Given the description of an element on the screen output the (x, y) to click on. 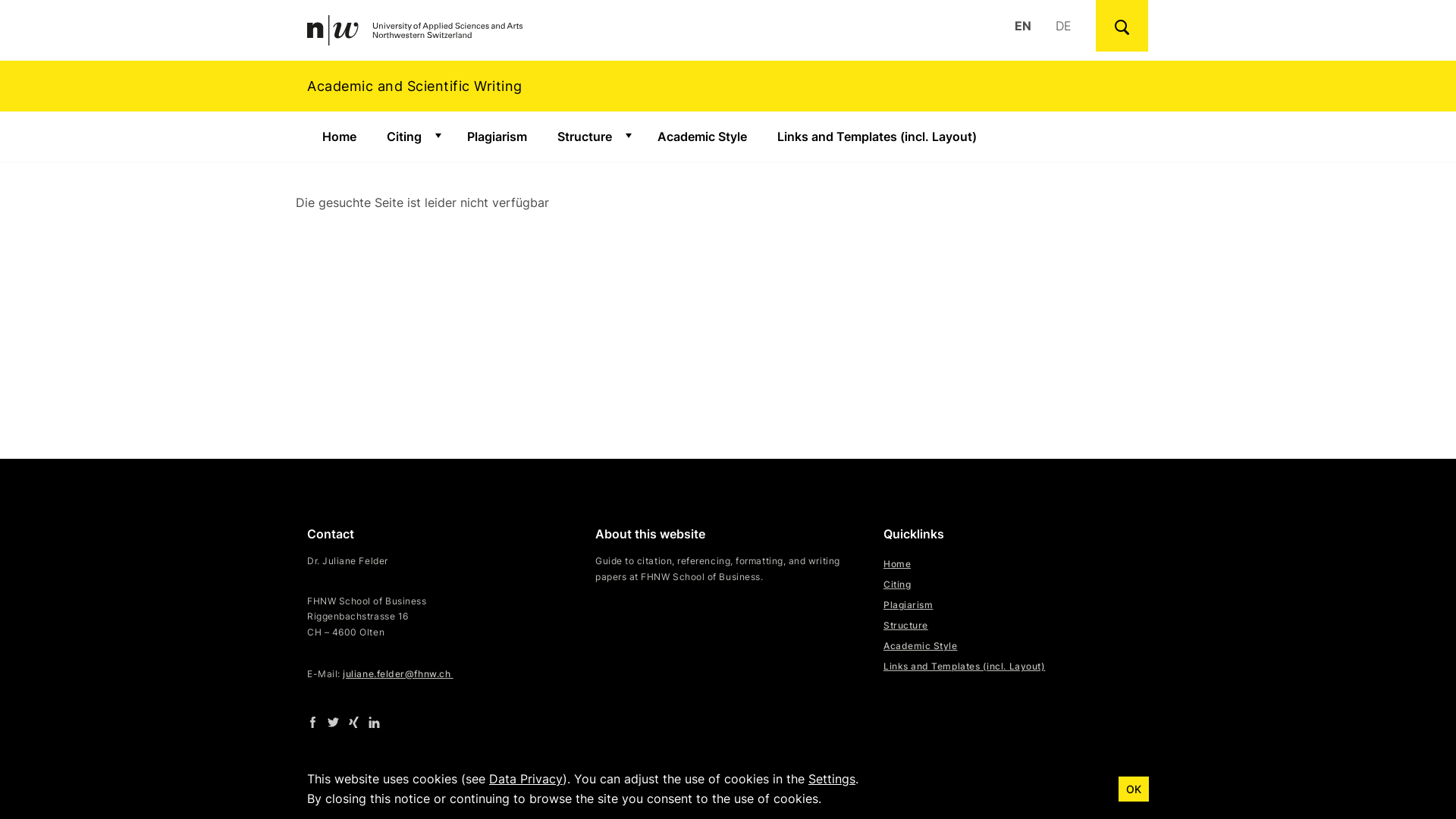
Home Element type: text (339, 136)
Show submenu for "Structure" Element type: text (626, 136)
Data Privacy Element type: text (807, 786)
Settings Element type: text (831, 778)
Academic Style Element type: text (702, 136)
Follow us on Facebook Element type: hover (312, 721)
Links and Templates (incl. Layout) Element type: text (876, 136)
Plagiarism Element type: text (496, 136)
OK Element type: text (1133, 788)
Links and Templates (incl. Layout) Element type: text (963, 665)
Citing Element type: text (896, 583)
www.fhnw.ch Element type: text (648, 786)
Structure
Show submenu for "Structure" Element type: text (592, 136)
Home Element type: text (896, 563)
Follow us on LinkedIn Element type: hover (373, 721)
Search Element type: text (1121, 25)
Citing
Show submenu for "Citing" Element type: text (411, 136)
Imprint Element type: text (728, 786)
Follow us on Xing Element type: hover (353, 721)
EN Element type: text (1022, 25)
Academic Style Element type: text (920, 645)
Plagiarism Element type: text (907, 604)
juliane.felder@fhnw.ch  Element type: text (397, 672)
DE Element type: text (1063, 25)
Follow us on Twitter Element type: hover (332, 721)
Structure Element type: text (905, 624)
Data Privacy Element type: text (525, 778)
Show submenu for "Citing" Element type: text (436, 136)
